Given the description of an element on the screen output the (x, y) to click on. 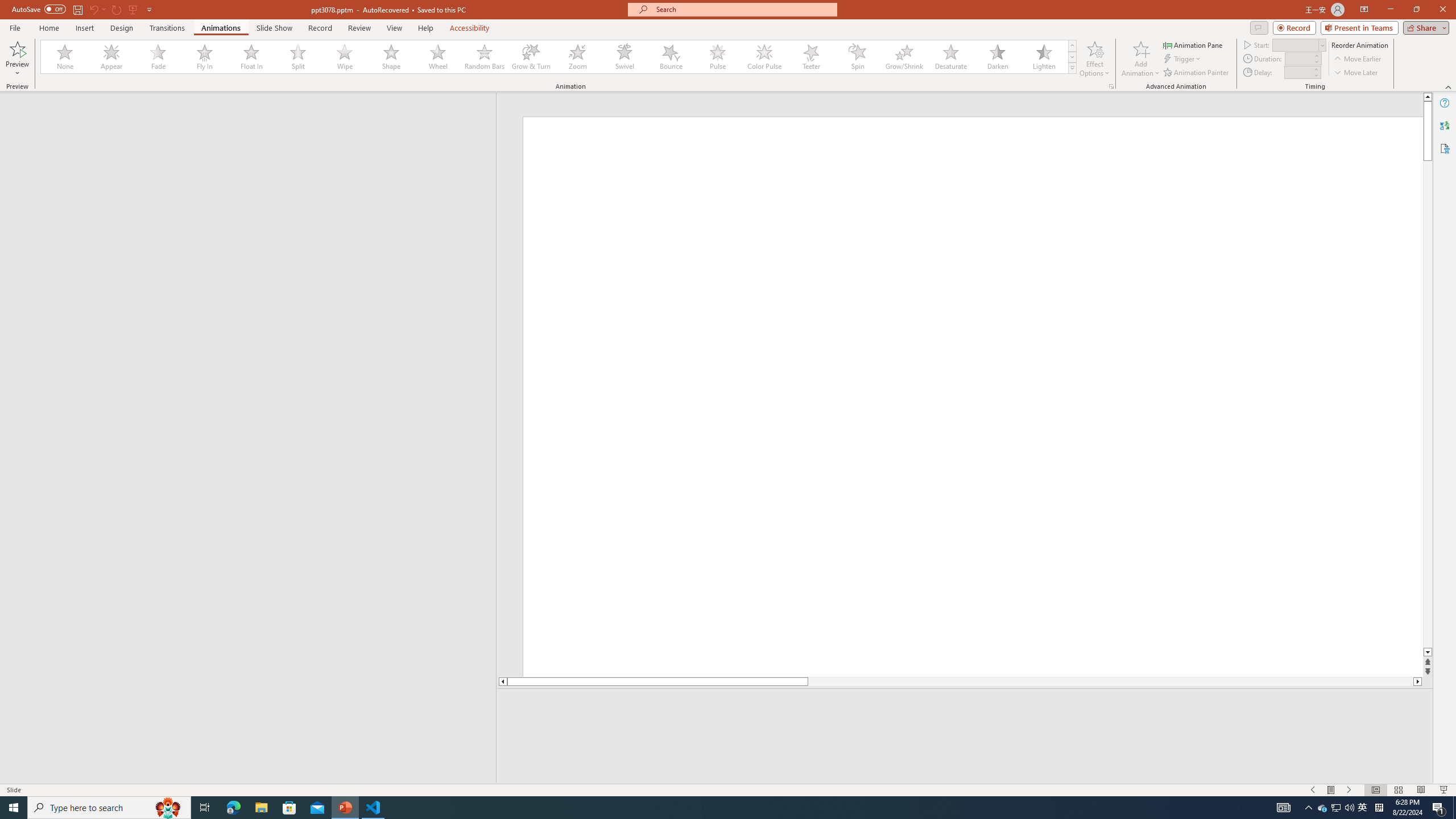
AutomationID: AnimationGallery (558, 56)
Animation Painter (1196, 72)
Move Later (1355, 72)
Present in Teams (1359, 27)
Animation Pane (1193, 44)
Rectangle (242, 437)
Restore Down (1416, 9)
Fly In (205, 56)
Share (1423, 27)
Start (1299, 44)
Pulse (717, 56)
Move Earlier (1357, 58)
Color Pulse (764, 56)
Slide Show (1444, 790)
Animation Duration (1298, 58)
